Given the description of an element on the screen output the (x, y) to click on. 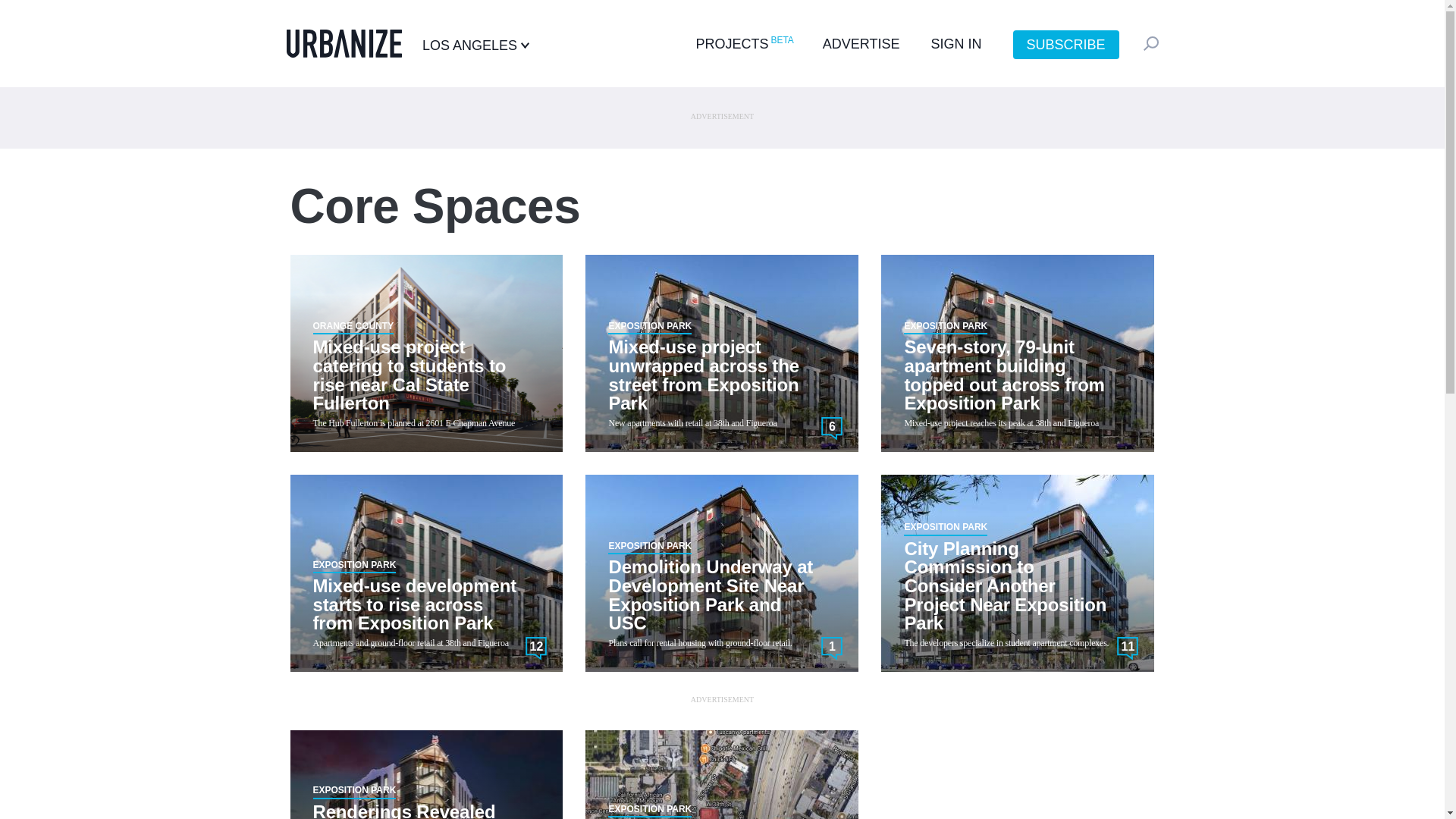
SIGN IN (956, 43)
SUBSCRIBE (1066, 44)
ADVERTISE (860, 43)
LOS ANGELES (475, 45)
PROJECTSBETA (742, 43)
